Given the description of an element on the screen output the (x, y) to click on. 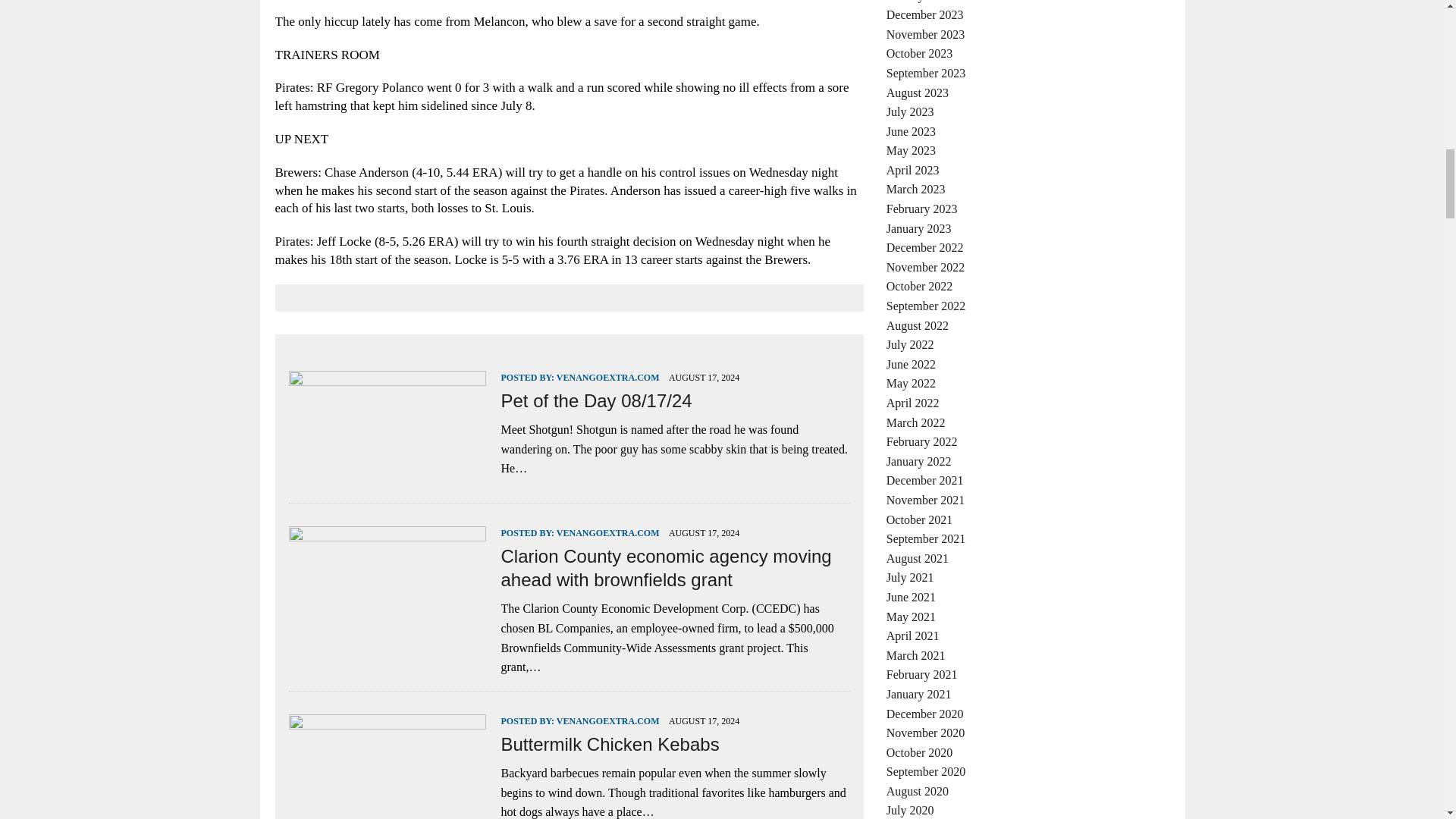
VENANGOEXTRA.COM (607, 377)
VENANGOEXTRA.COM (607, 532)
Buttermilk Chicken Kebabs (386, 813)
Buttermilk Chicken Kebabs (609, 743)
